Given the description of an element on the screen output the (x, y) to click on. 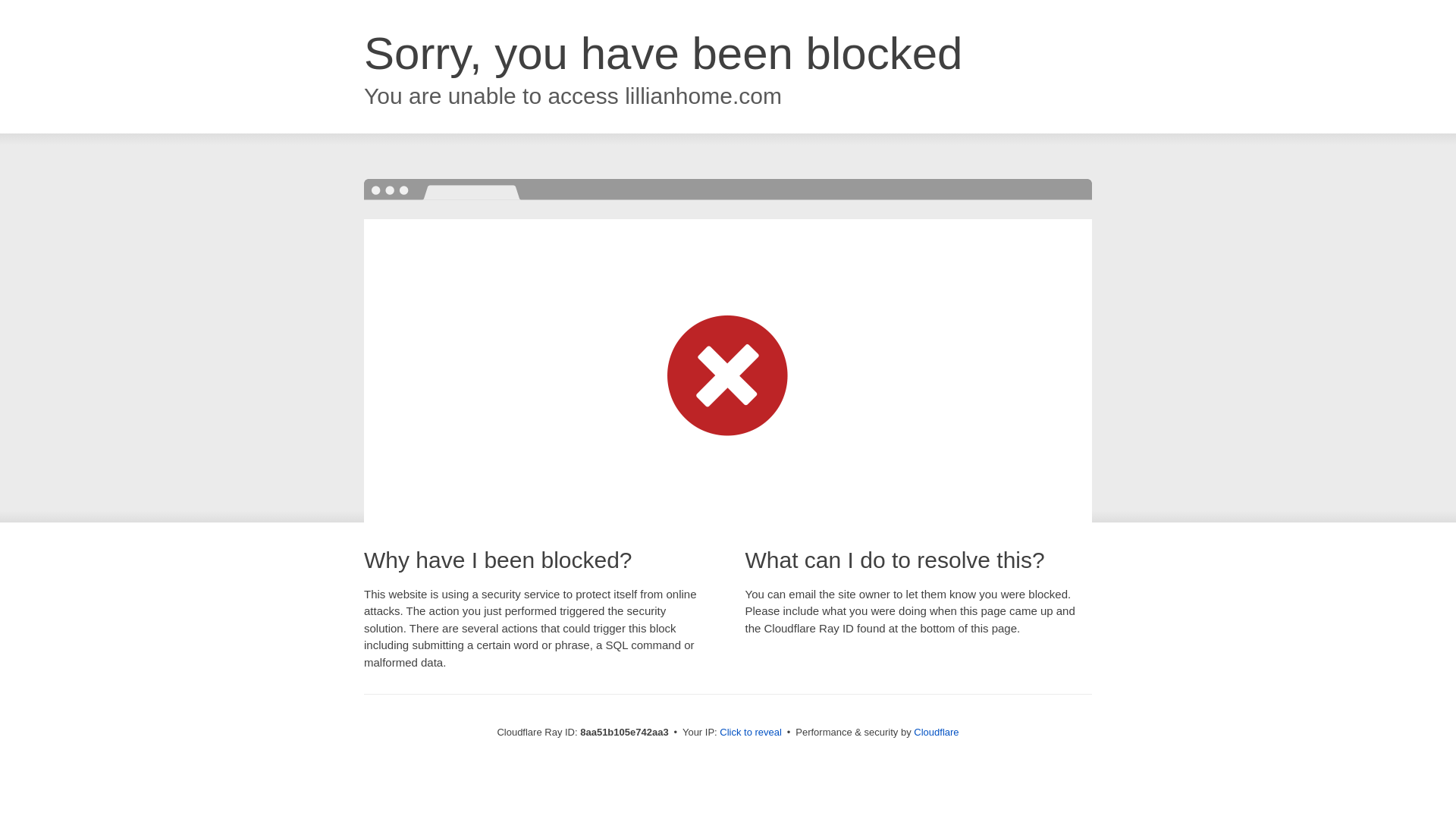
Cloudflare (936, 731)
Click to reveal (750, 732)
